Given the description of an element on the screen output the (x, y) to click on. 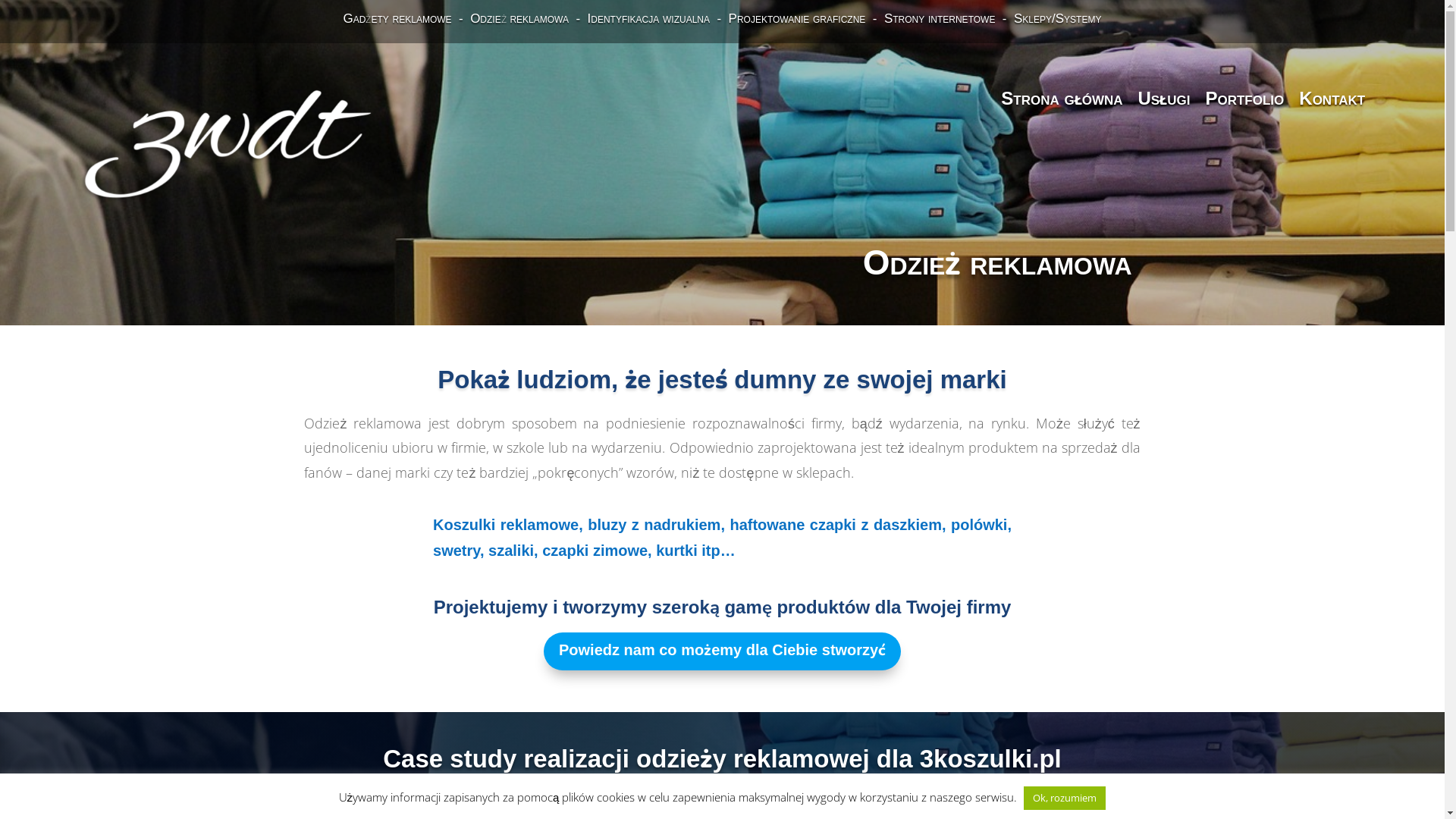
Sklepy/Systemy Element type: text (1057, 18)
Kontakt Element type: text (1332, 97)
Identyfikacja wizualna Element type: text (648, 18)
Projektowanie graficzne Element type: text (797, 18)
Portfolio Element type: text (1243, 97)
Ok, rozumiem Element type: text (1064, 797)
 Strony internetowe Element type: text (937, 18)
